Given the description of an element on the screen output the (x, y) to click on. 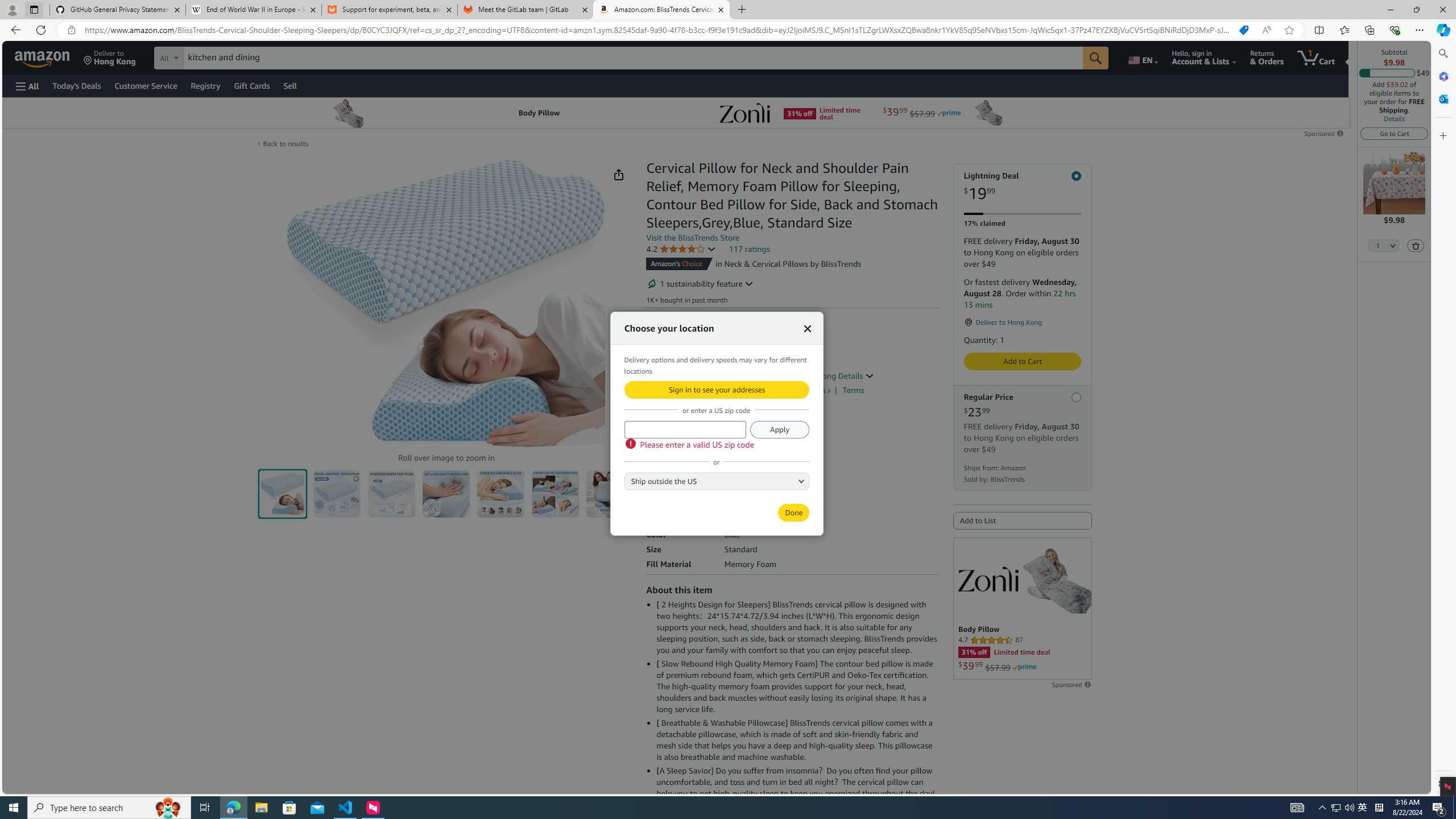
Blue (657, 432)
Details  (855, 375)
Sustainability features (652, 283)
Gift Cards (251, 85)
Delete (1415, 245)
or enter a US zip code (684, 429)
Add to List (1022, 520)
Open Menu (26, 86)
Done (793, 511)
